Given the description of an element on the screen output the (x, y) to click on. 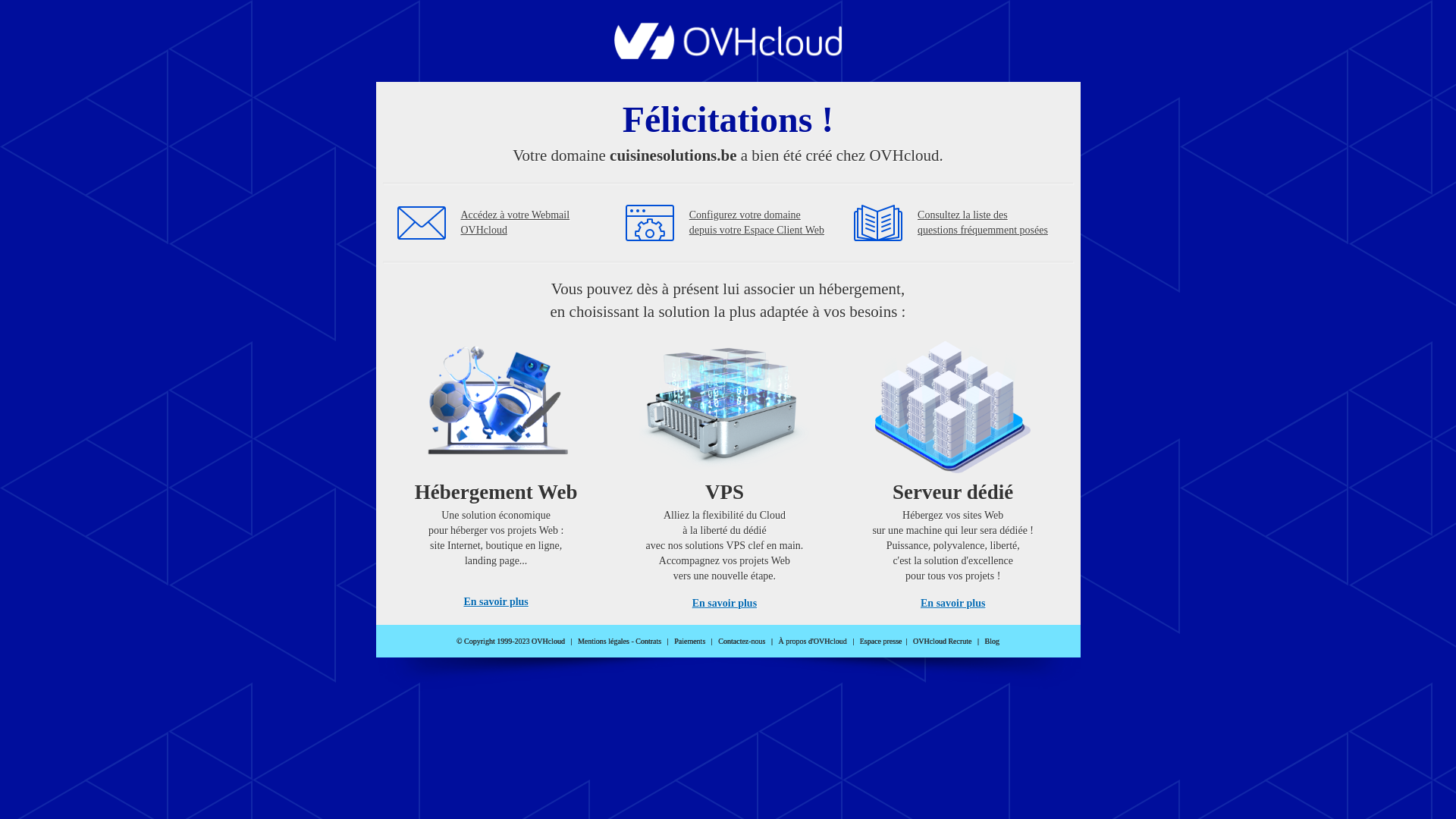
OVHcloud Element type: hover (727, 54)
Configurez votre domaine
depuis votre Espace Client Web Element type: text (756, 222)
OVHcloud Recrute Element type: text (942, 641)
VPS Element type: hover (724, 469)
Blog Element type: text (992, 641)
Espace presse Element type: text (880, 641)
Contactez-nous Element type: text (741, 641)
En savoir plus Element type: text (952, 602)
En savoir plus Element type: text (495, 601)
En savoir plus Element type: text (724, 602)
Paiements Element type: text (689, 641)
